Given the description of an element on the screen output the (x, y) to click on. 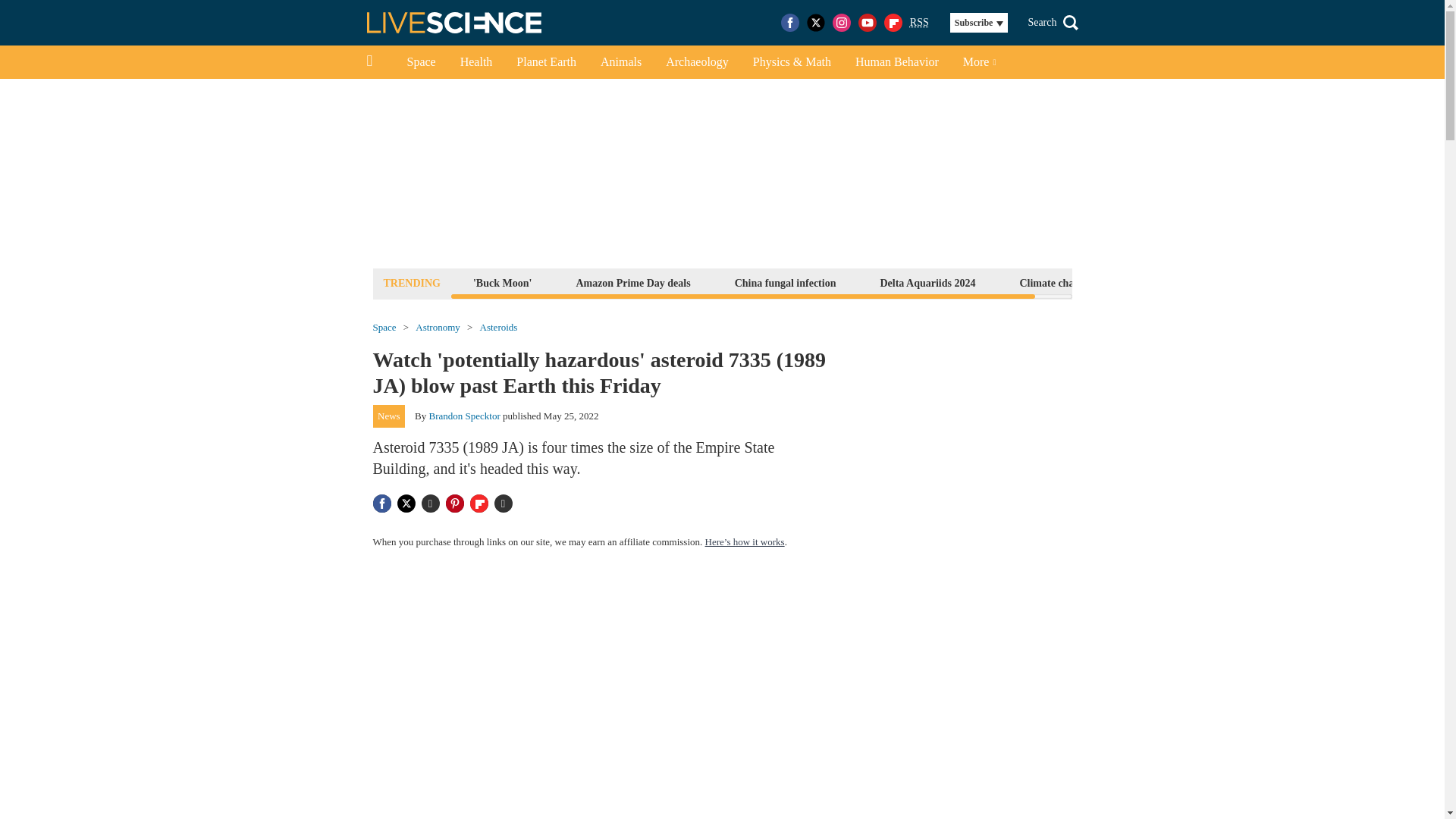
'Buck Moon' (502, 282)
Amazon Prime Day deals (632, 282)
Delta Aquariids 2024 (927, 282)
Human Behavior (896, 61)
Space (420, 61)
Asteroids (499, 327)
Astronomy (437, 327)
News (389, 415)
Really Simple Syndication (919, 21)
Planet Earth (545, 61)
RSS (919, 22)
Brandon Specktor (464, 415)
Health (476, 61)
Climate change (1053, 282)
Animals (620, 61)
